Given the description of an element on the screen output the (x, y) to click on. 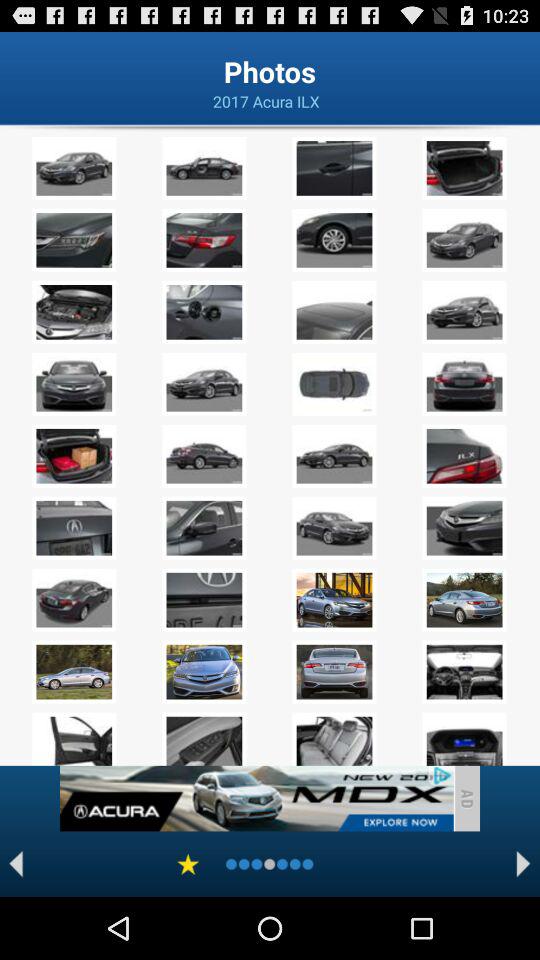
go back arrow (16, 864)
